Given the description of an element on the screen output the (x, y) to click on. 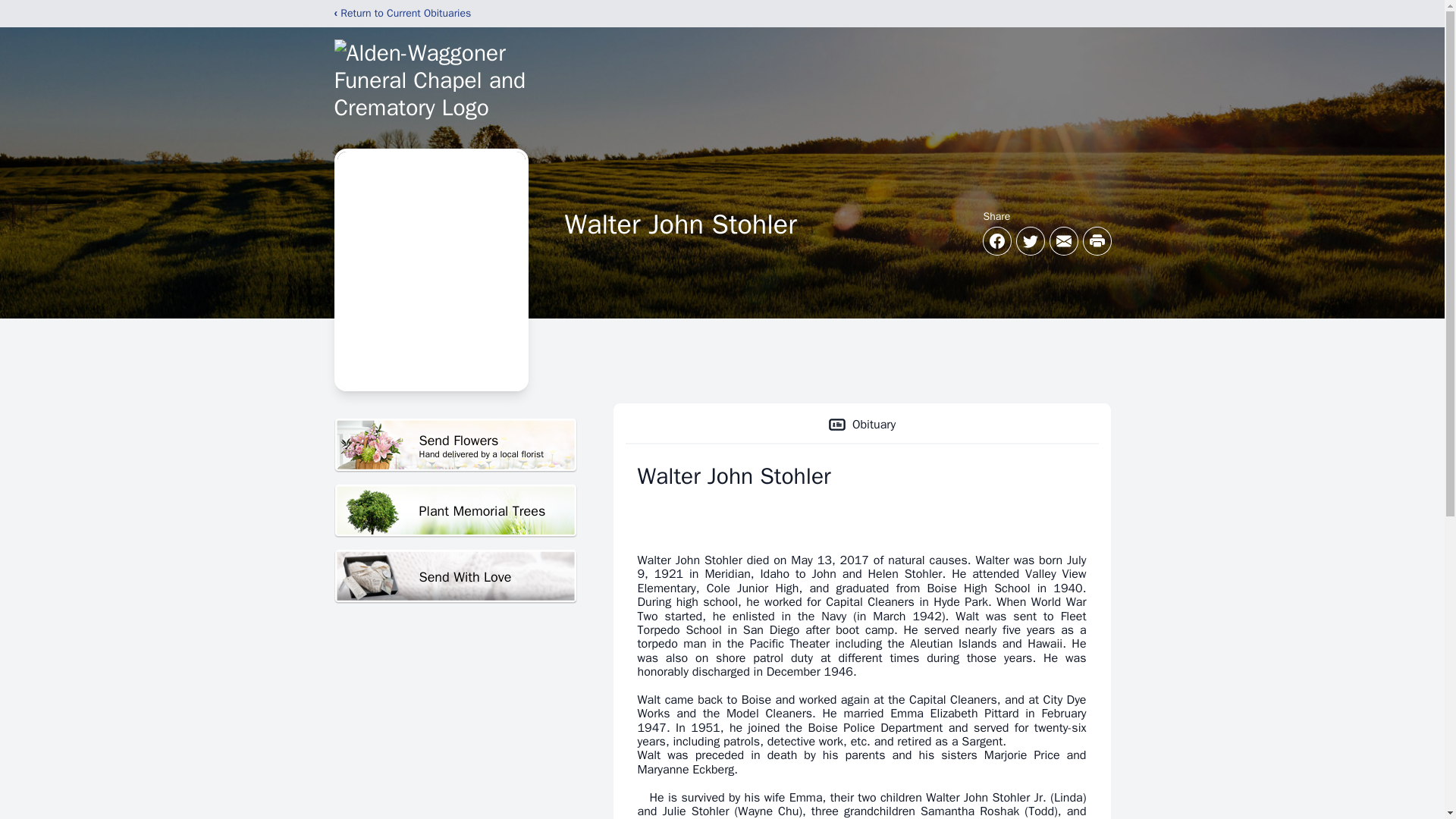
Plant Memorial Trees (454, 511)
Send With Love (454, 576)
Obituary (454, 445)
